Given the description of an element on the screen output the (x, y) to click on. 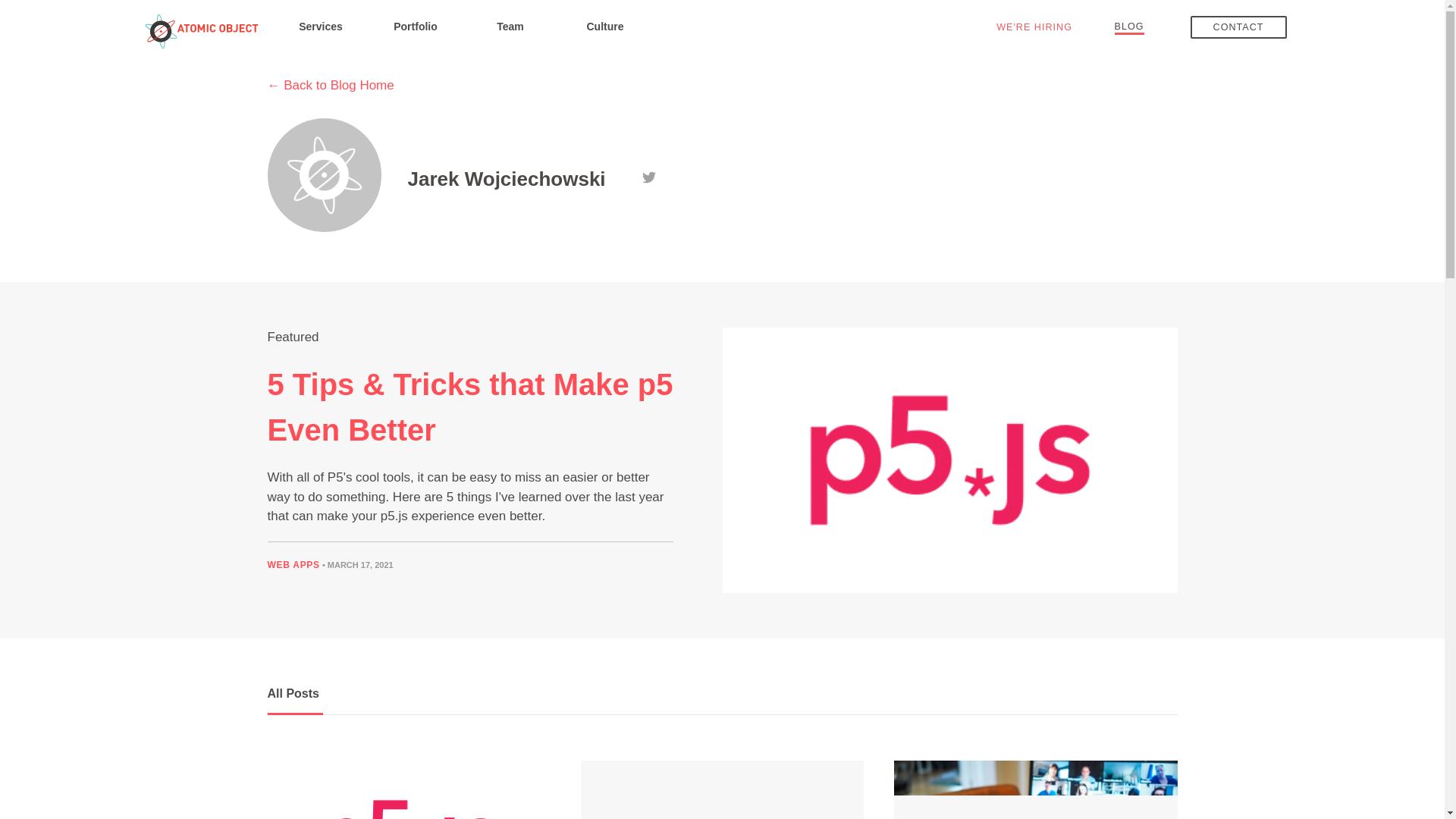
GitHub (624, 176)
Jarek Wojciechowski (506, 180)
Team (510, 26)
Services (320, 26)
Portfolio (415, 26)
WEB APPS (292, 564)
GitHub (624, 176)
CONTACT (1239, 26)
Culture (605, 26)
BLOG (1129, 26)
WE'RE HIRING (1033, 27)
Twitter (649, 176)
Twitter (649, 176)
